Given the description of an element on the screen output the (x, y) to click on. 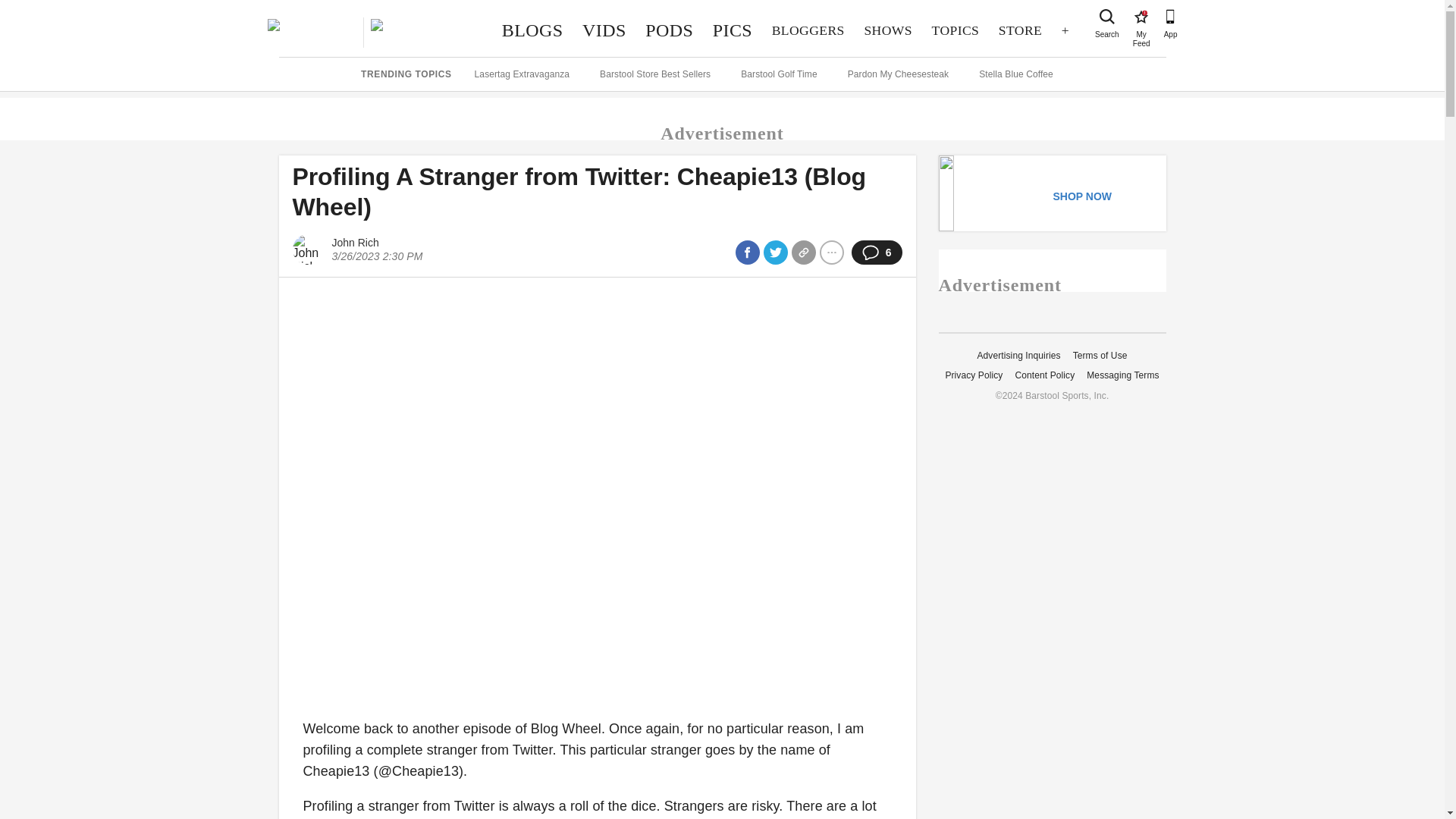
PODS (668, 30)
Search (1107, 16)
BLOGS (1141, 16)
VIDS (532, 30)
BLOGGERS (603, 30)
PICS (807, 30)
STORE (732, 30)
SHOWS (1019, 30)
TOPICS (887, 30)
